Given the description of an element on the screen output the (x, y) to click on. 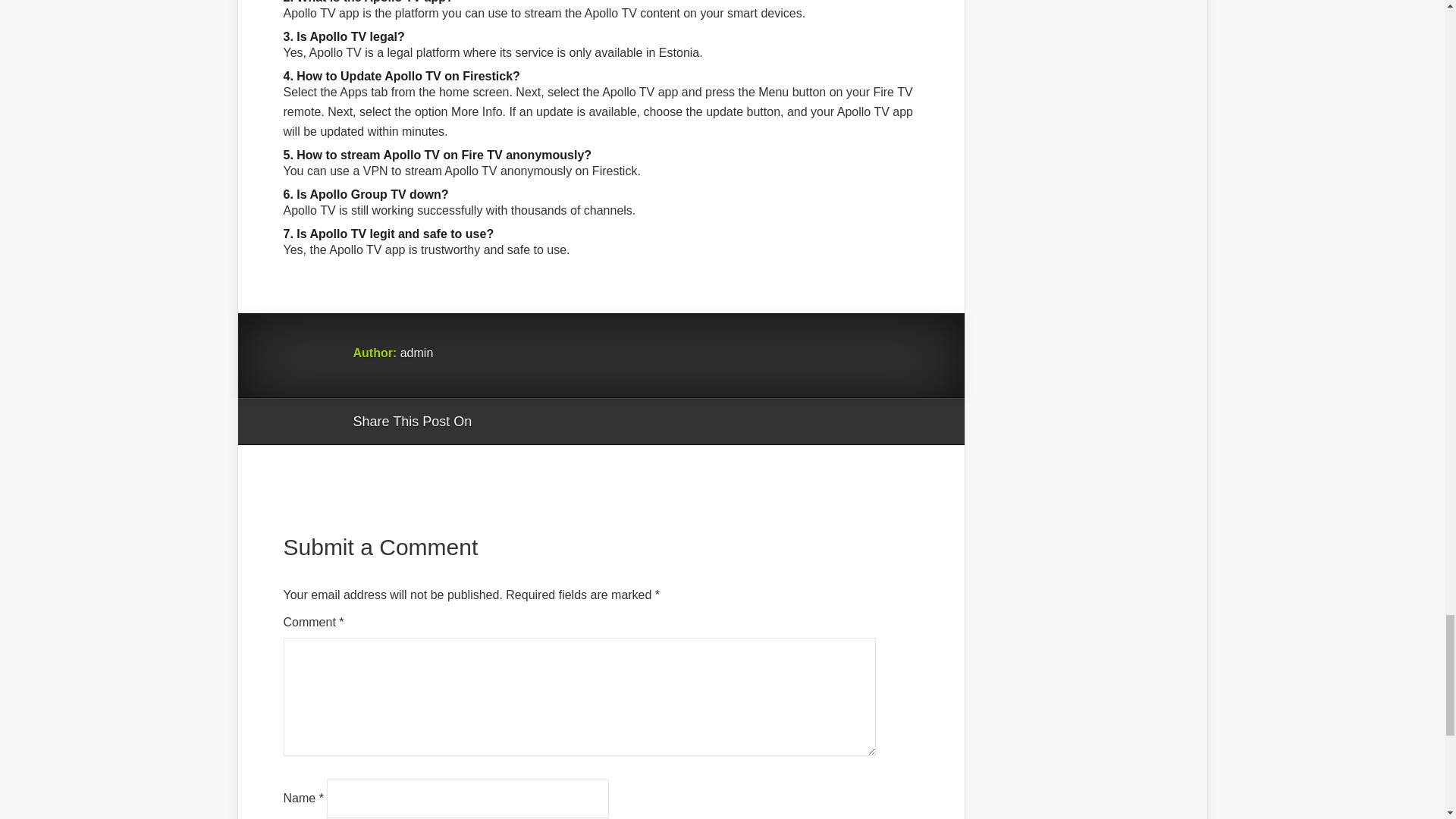
Google (498, 422)
Twitter (555, 422)
Facebook (526, 422)
